Given the description of an element on the screen output the (x, y) to click on. 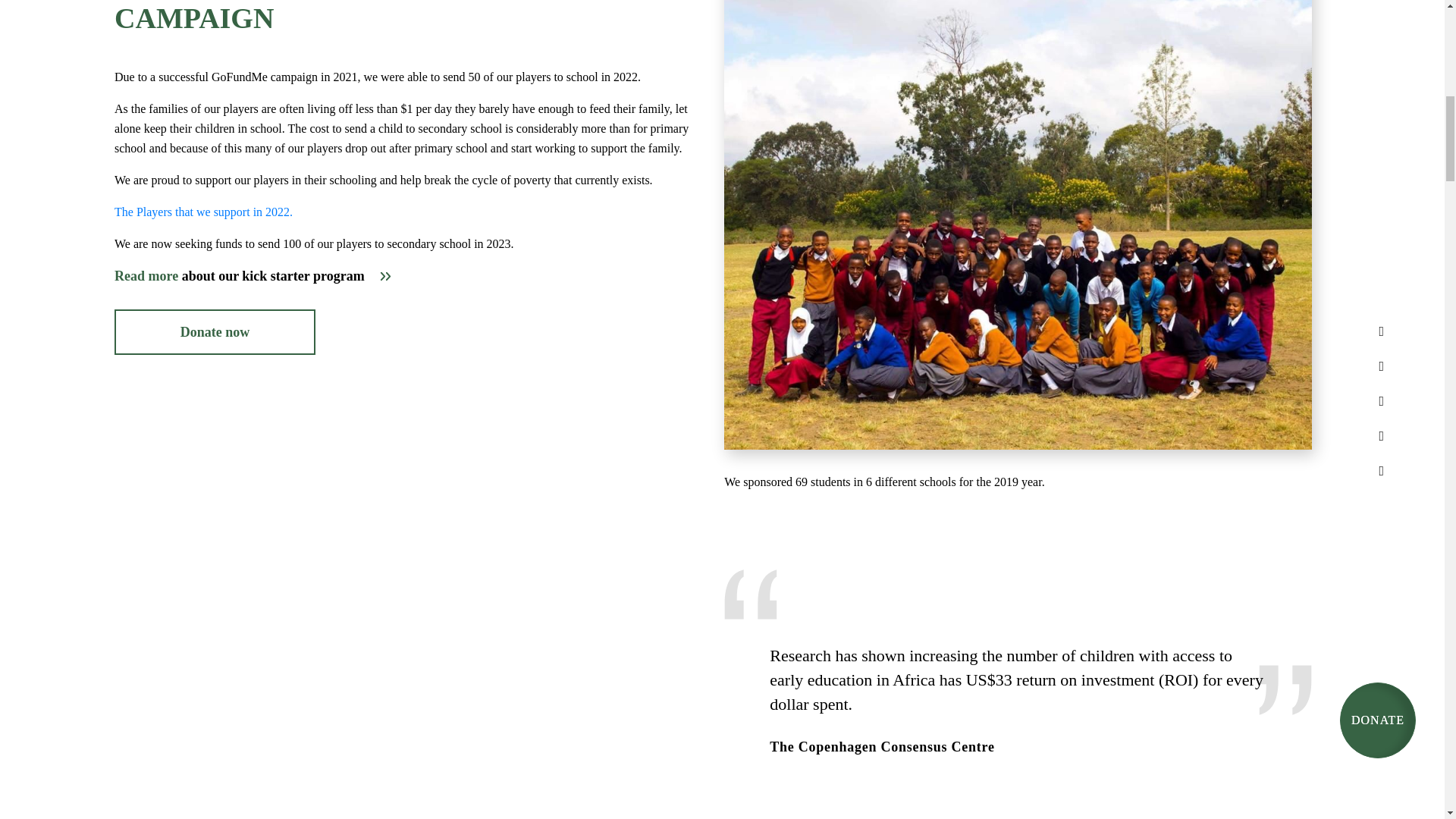
Donate now (215, 331)
The Players that we support in 2022. (203, 211)
Read more about our kick starter program (253, 275)
